Given the description of an element on the screen output the (x, y) to click on. 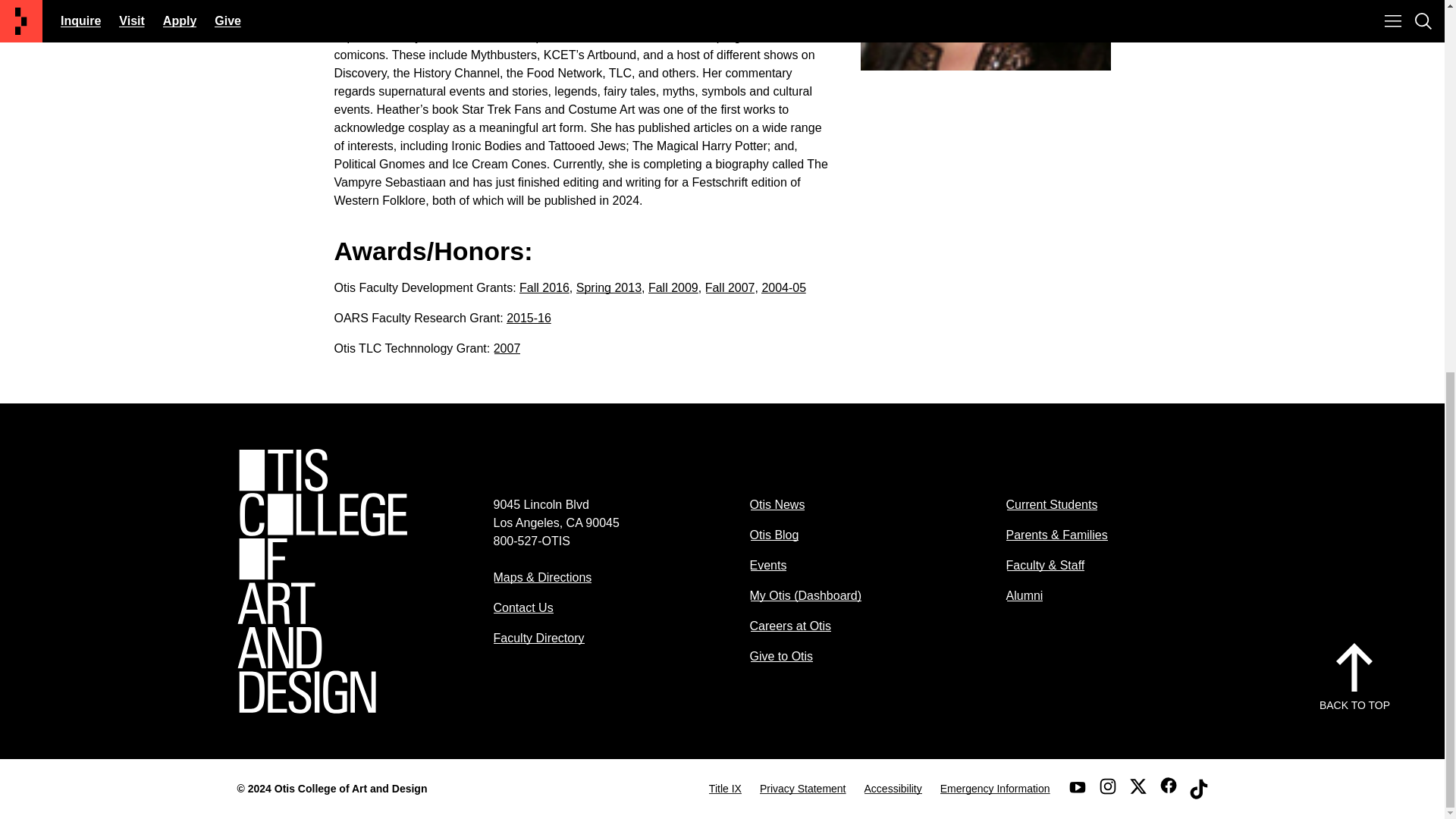
2015-16 (528, 318)
Events (767, 564)
2004-05 (783, 287)
2007 (507, 348)
Contact Us (523, 607)
Faculty Directory (538, 637)
Otis Blog (773, 534)
Spring 2013 (609, 287)
Fall 2007 (729, 287)
Fall 2009 (672, 287)
